Given the description of an element on the screen output the (x, y) to click on. 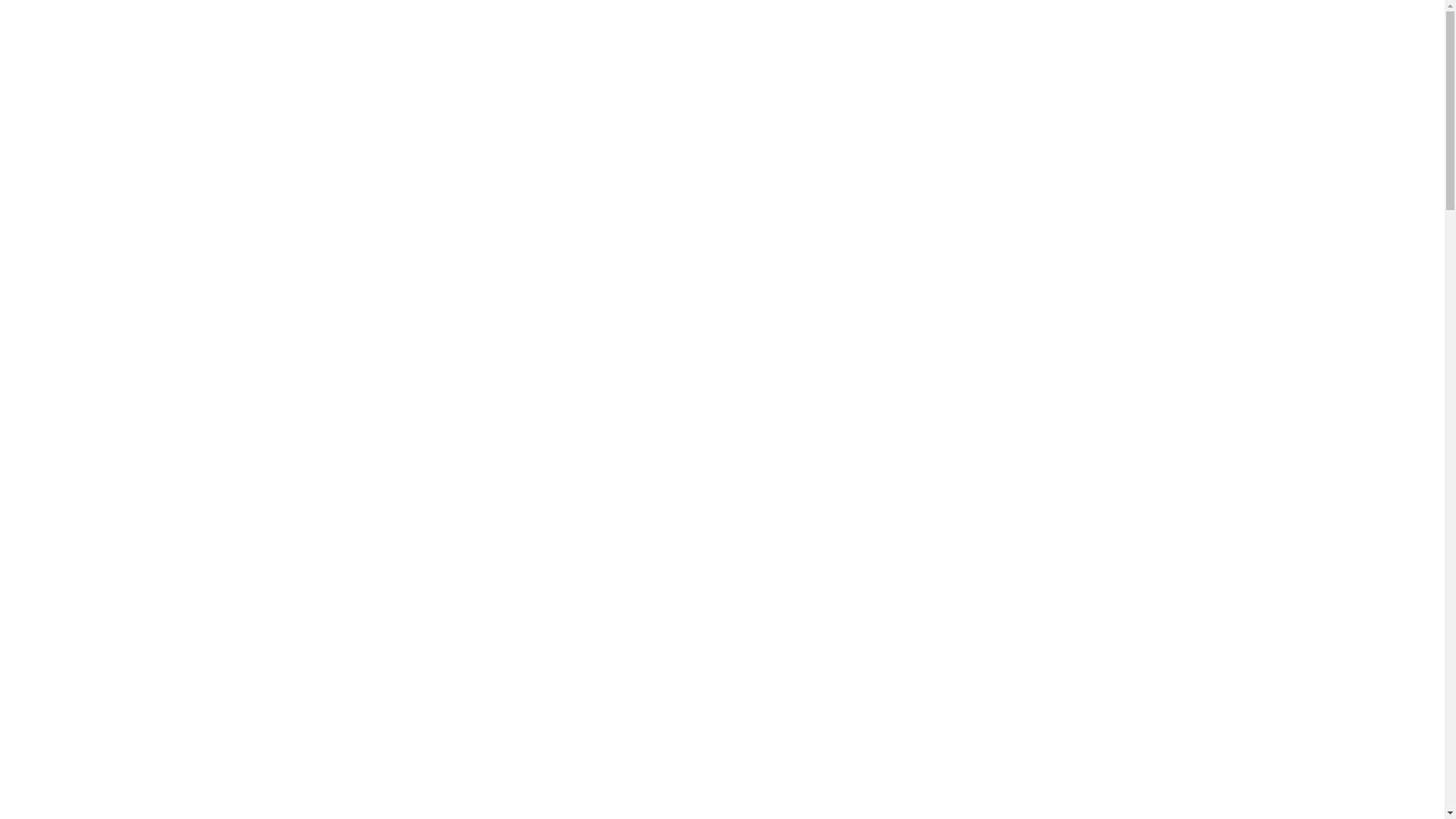
HOME Element type: text (522, 90)
COURSES Element type: text (843, 90)
CONTACT US Element type: text (951, 90)
CART Element type: text (1048, 90)
0491 731 543 Element type: text (1025, 19)
ABOUT US Element type: text (616, 90)
PROGRAMS Element type: text (730, 90)
